Given the description of an element on the screen output the (x, y) to click on. 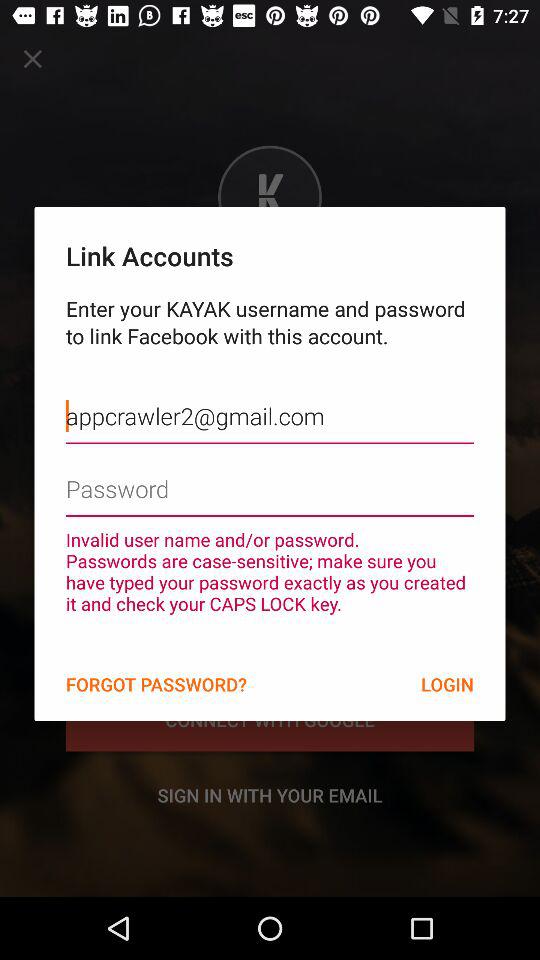
open the item to the left of the login icon (156, 683)
